Given the description of an element on the screen output the (x, y) to click on. 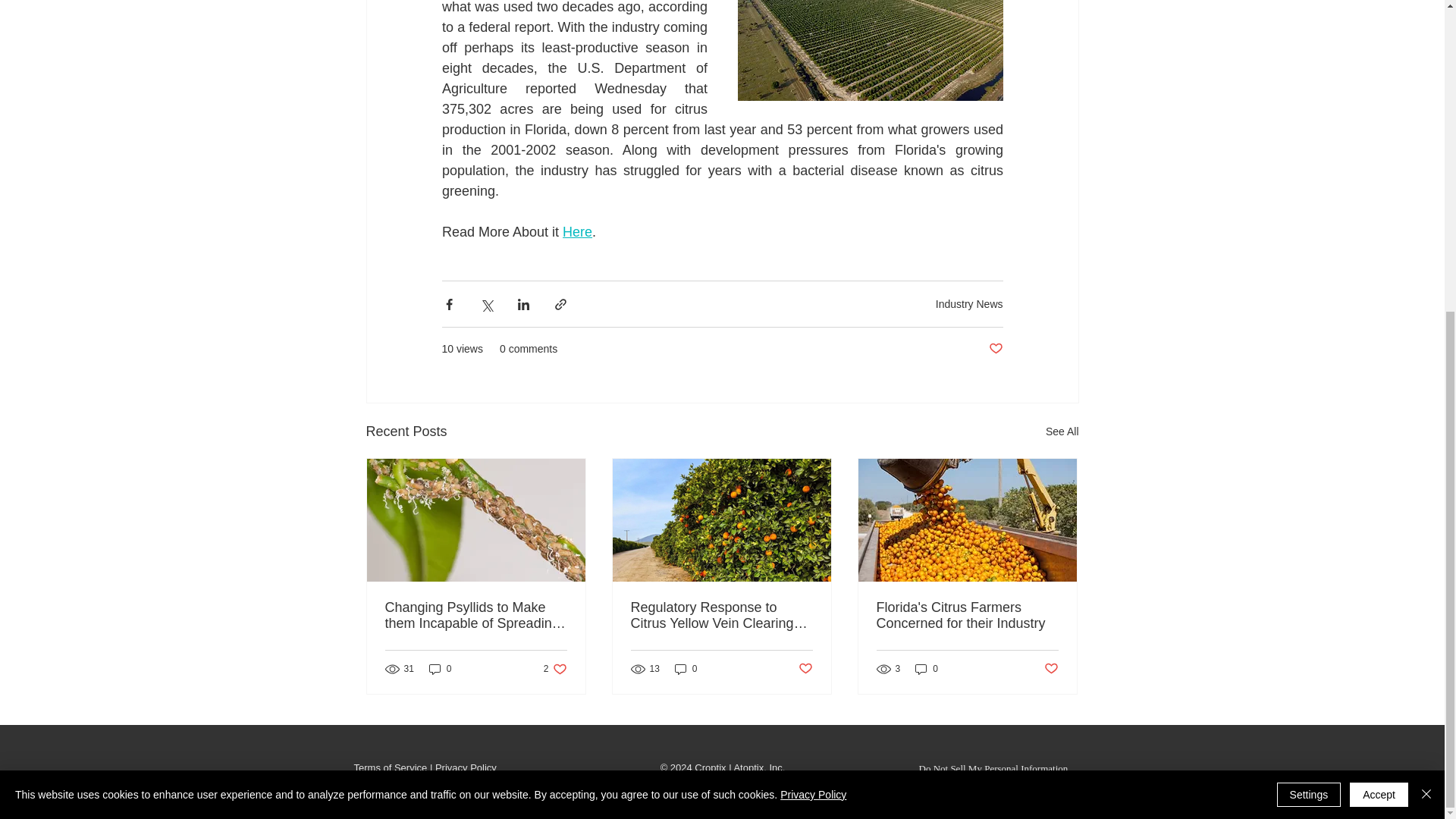
0 (440, 668)
Florida's Citrus Farmers Concerned for their Industry (967, 615)
0 (555, 668)
Industry News (926, 668)
Post not marked as liked (969, 304)
See All (1050, 668)
Post not marked as liked (1061, 431)
Post not marked as liked (995, 349)
0 (804, 668)
Changing Psyllids to Make them Incapable of Spreading HLB (685, 668)
Terms of Service (476, 615)
Here (389, 767)
